Given the description of an element on the screen output the (x, y) to click on. 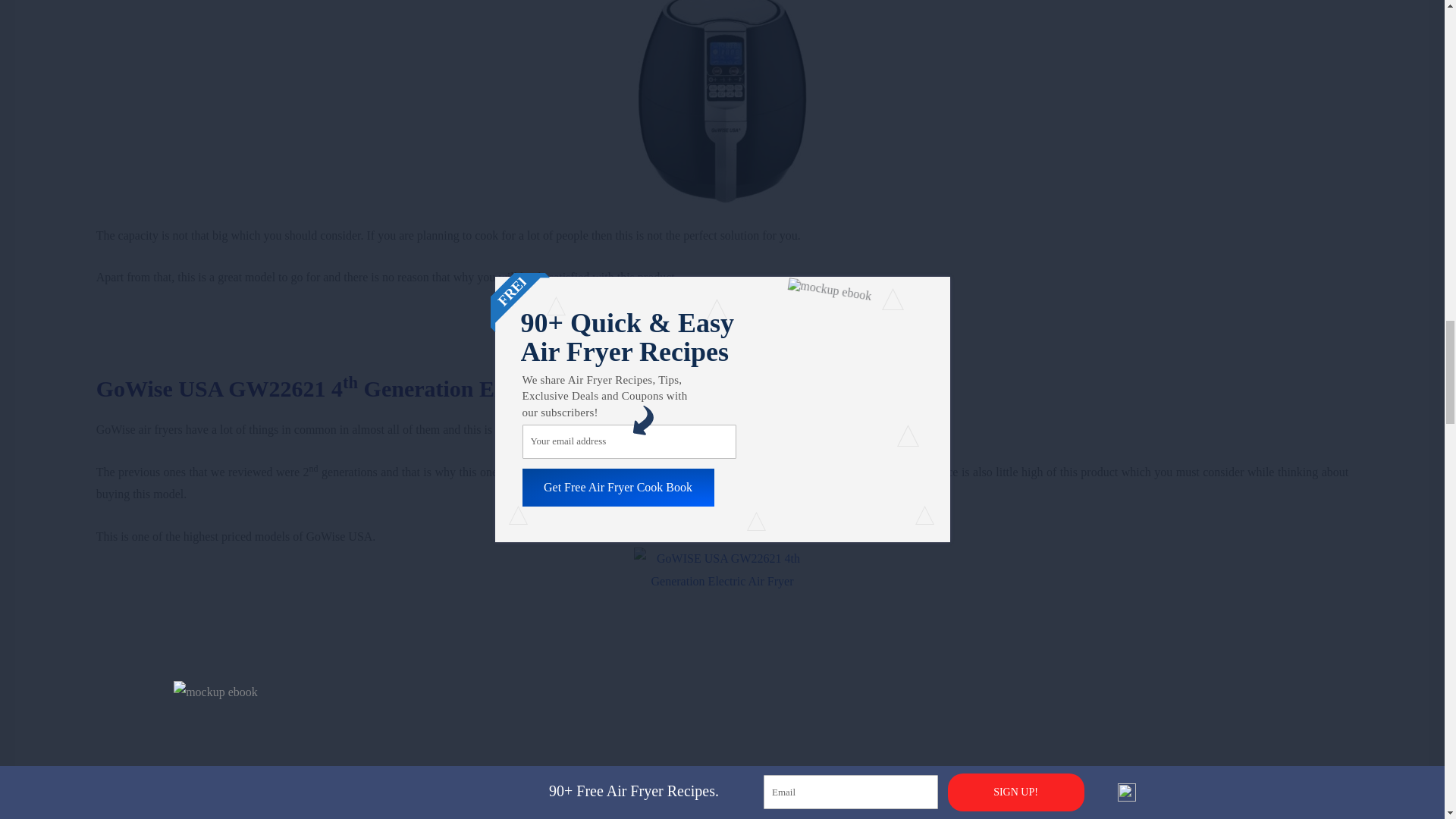
GoWise USA GW22621 4th Generation Electric Air Fryer (374, 388)
Click Here to Check Price and Read Customer Reviews (722, 362)
Read Our Full Review (721, 318)
